Given the description of an element on the screen output the (x, y) to click on. 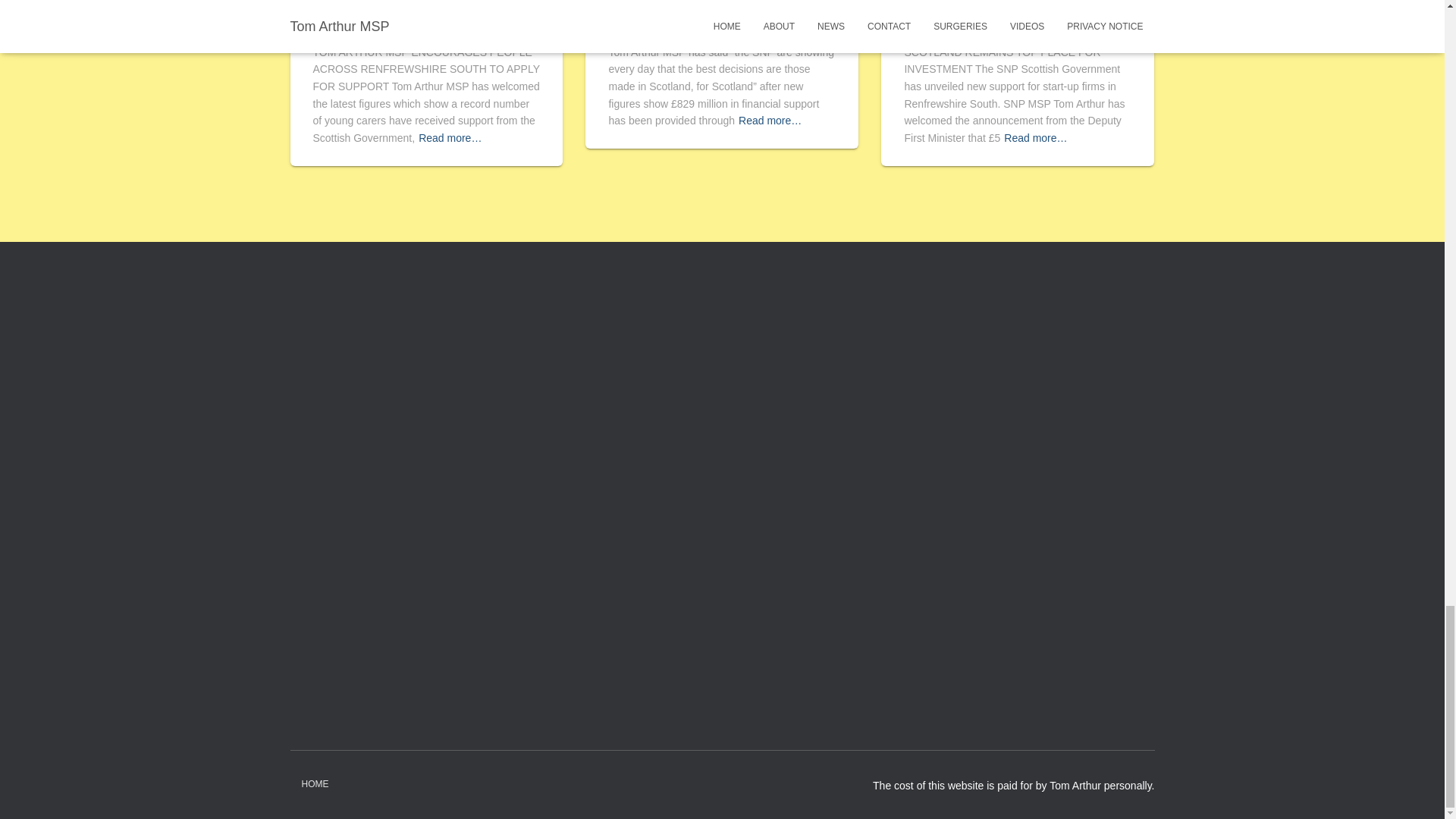
RECORD NUMBER OF YOUNG CARERS SUPPORTED UNDER SNP GOVERNMENT (423, 16)
SNP UNVEIL NEW SUPPORT FOR START-UPS IN RENFREWSHIRE SOUTH (1011, 16)
RECORD NUMBER OF YOUNG CARERS SUPPORTED UNDER SNP GOVERNMENT (423, 16)
HOME (314, 784)
